Given the description of an element on the screen output the (x, y) to click on. 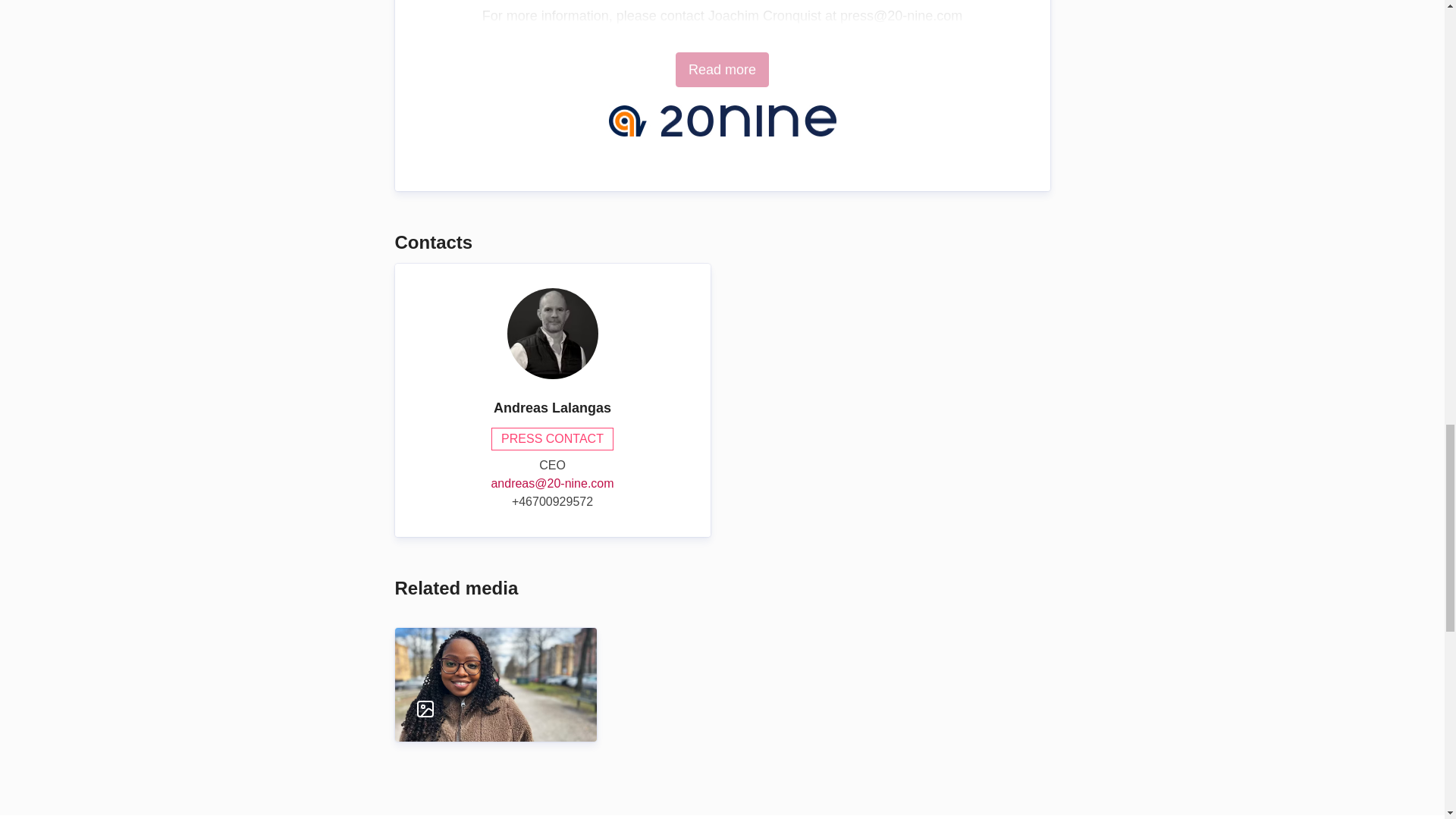
Faith-cco-mynewsdesk (494, 668)
Not downloadable (480, 708)
Read more (721, 69)
